Given the description of an element on the screen output the (x, y) to click on. 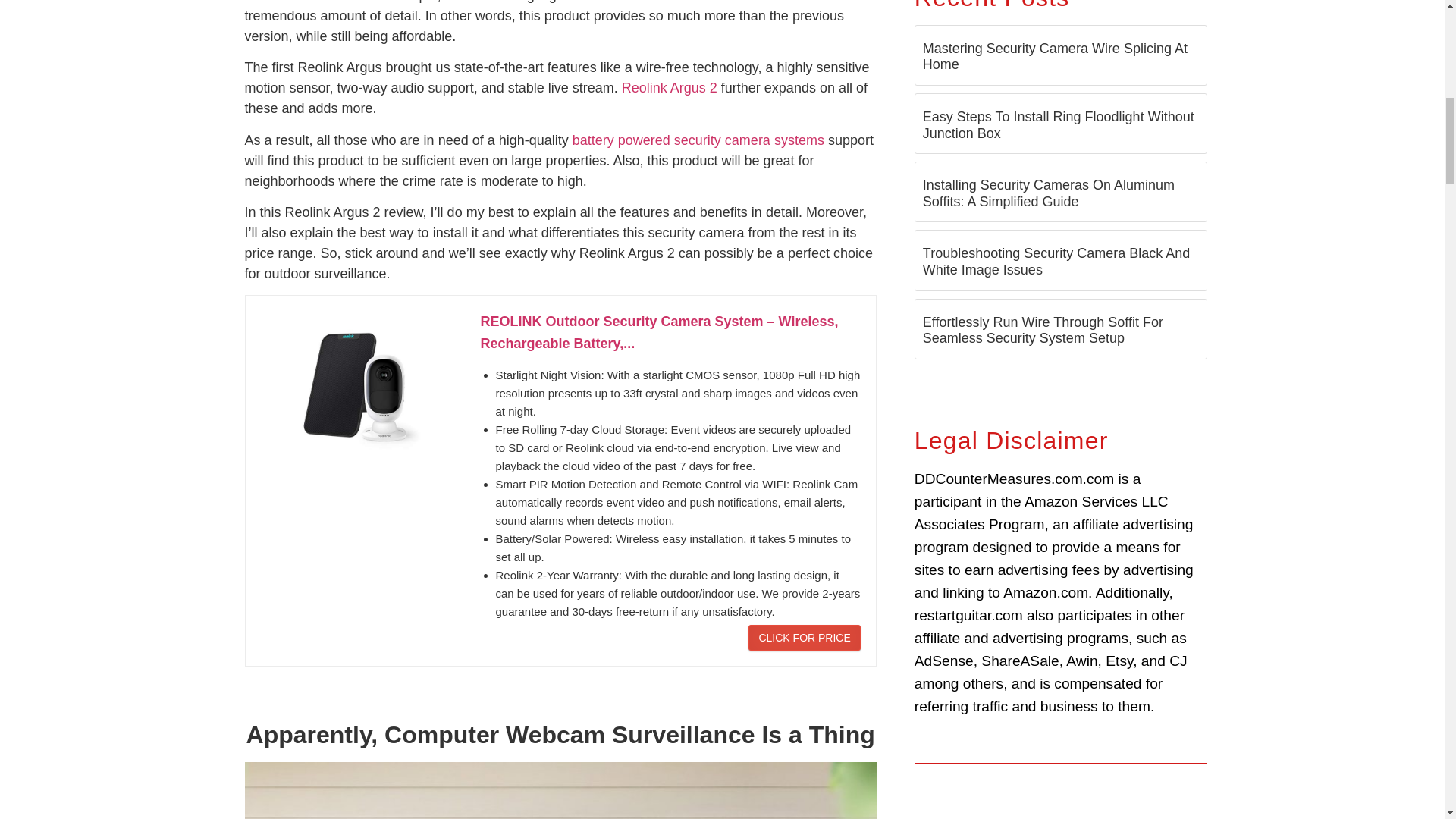
battery powered security camera systems (698, 140)
CLICK FOR PRICE (804, 637)
Reolink Argus 2 (669, 87)
Mastering Security Camera Wire Splicing At Home (1055, 56)
CLICK FOR PRICE (804, 637)
Troubleshooting Security Camera Black And White Image Issues (1057, 261)
Easy Steps To Install Ring Floodlight Without Junction Box (1058, 124)
Reolink Solar Panel (560, 790)
